Given the description of an element on the screen output the (x, y) to click on. 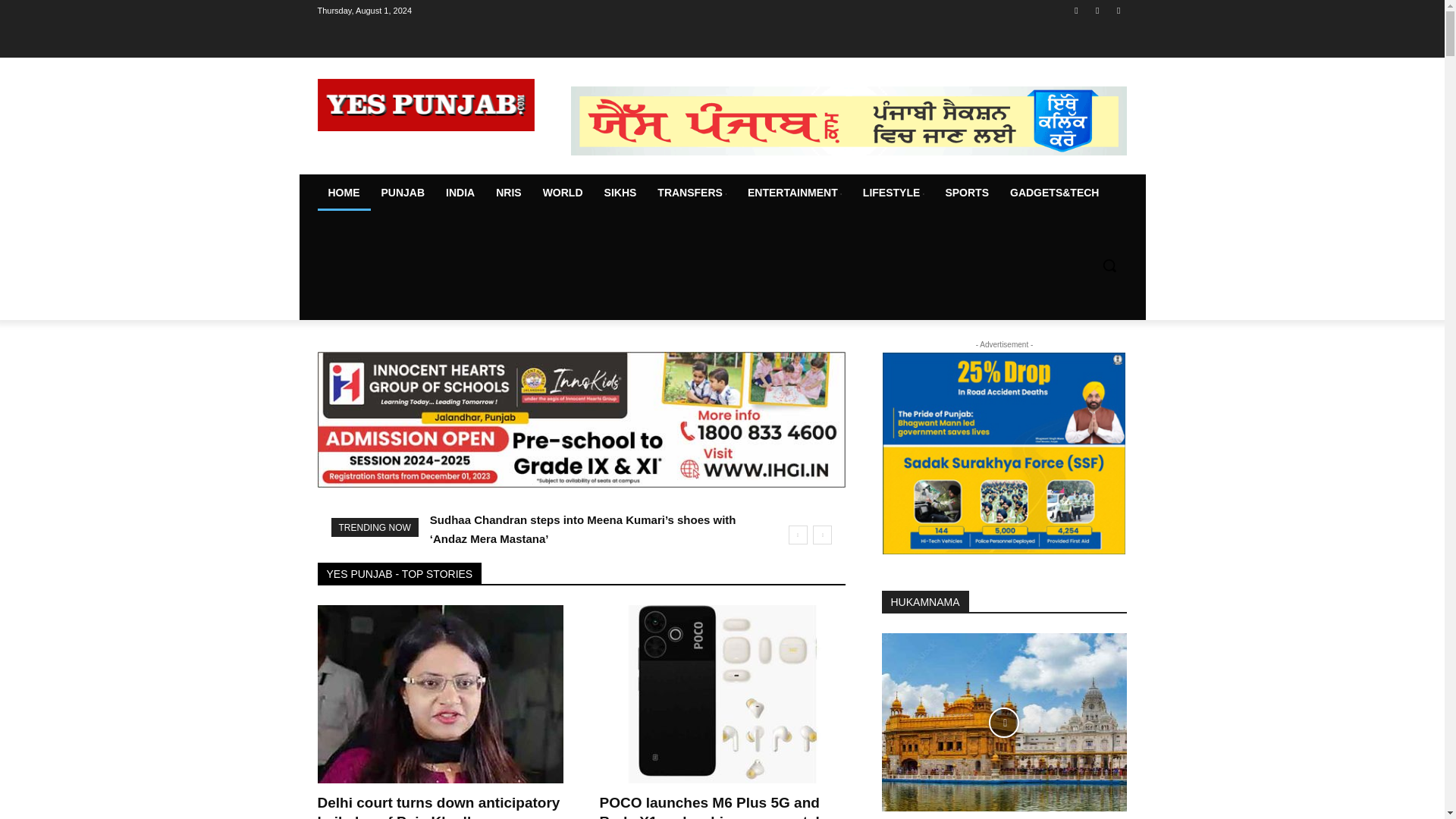
INDIA (459, 192)
ENTERTAINMENT (793, 192)
Twitter (1117, 9)
PUNJAB (402, 192)
HOME (343, 192)
NRIS (507, 192)
TRANSFERS (691, 192)
WORLD (563, 192)
Facebook (1075, 9)
Instagram (1097, 9)
SIKHS (620, 192)
